Given the description of an element on the screen output the (x, y) to click on. 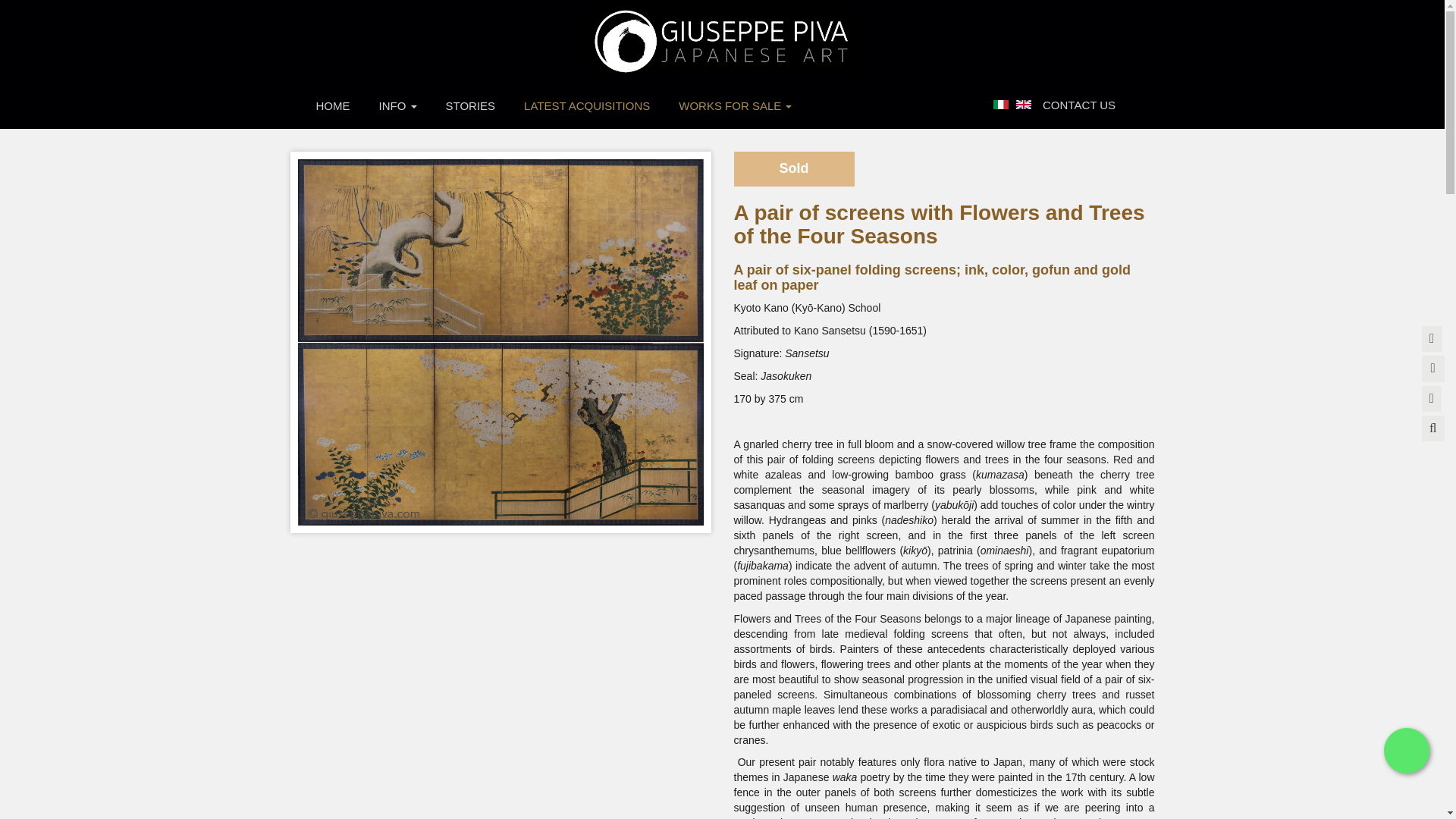
STORIES (469, 105)
HOME (333, 105)
INFO (397, 105)
A pair of screens with Flowers and Trees of the Four Seasons (1023, 103)
LATEST ACQUISITIONS (586, 105)
English (1023, 103)
Italiano (1000, 103)
